Given the description of an element on the screen output the (x, y) to click on. 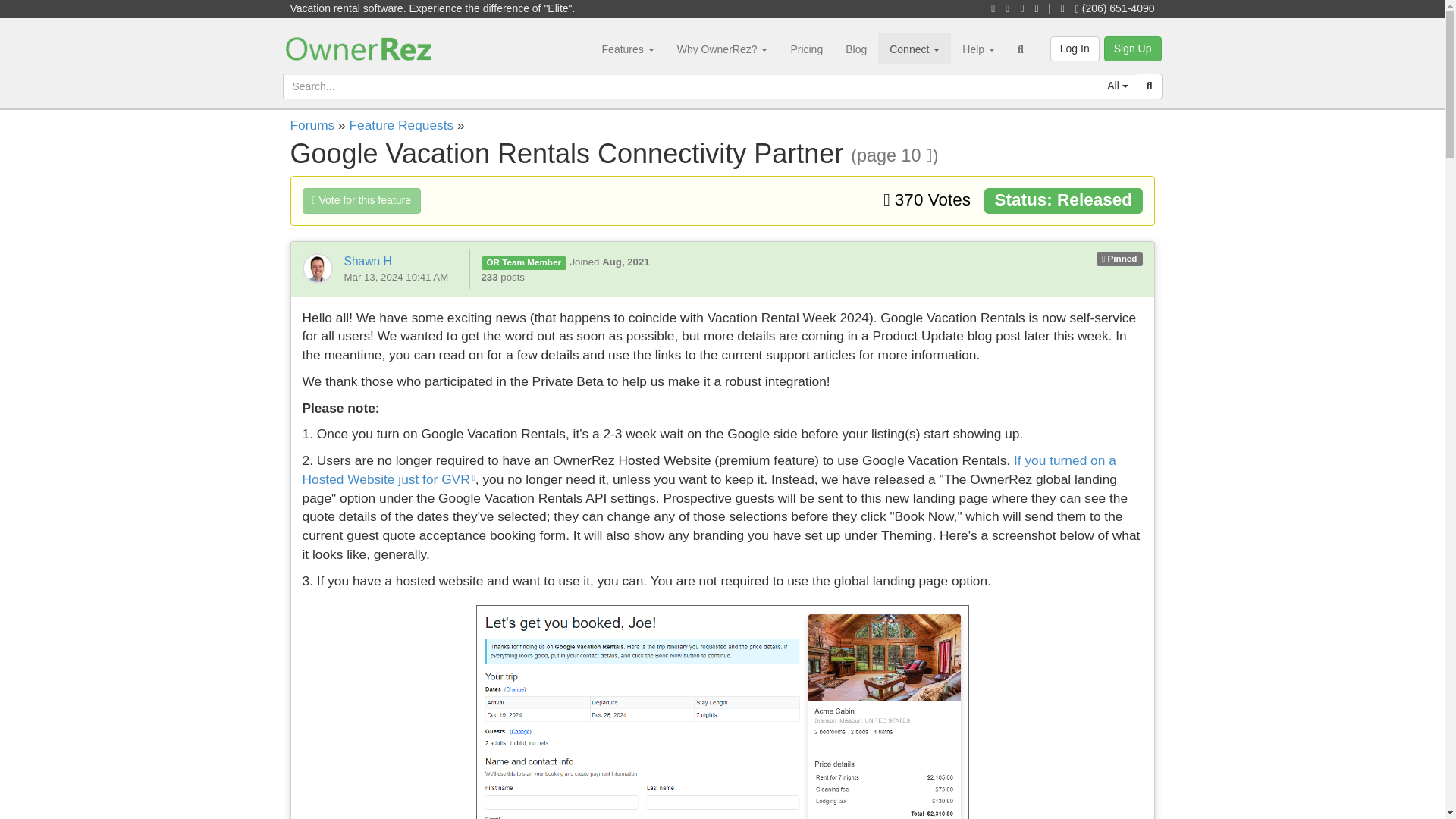
Connect (913, 48)
Voting is disabled for this request (360, 200)
Features (628, 48)
Sign Up (1132, 49)
Why OwnerRez? (721, 48)
All (1117, 86)
Log In (1074, 49)
Pricing (806, 48)
Blog (855, 48)
